Given the description of an element on the screen output the (x, y) to click on. 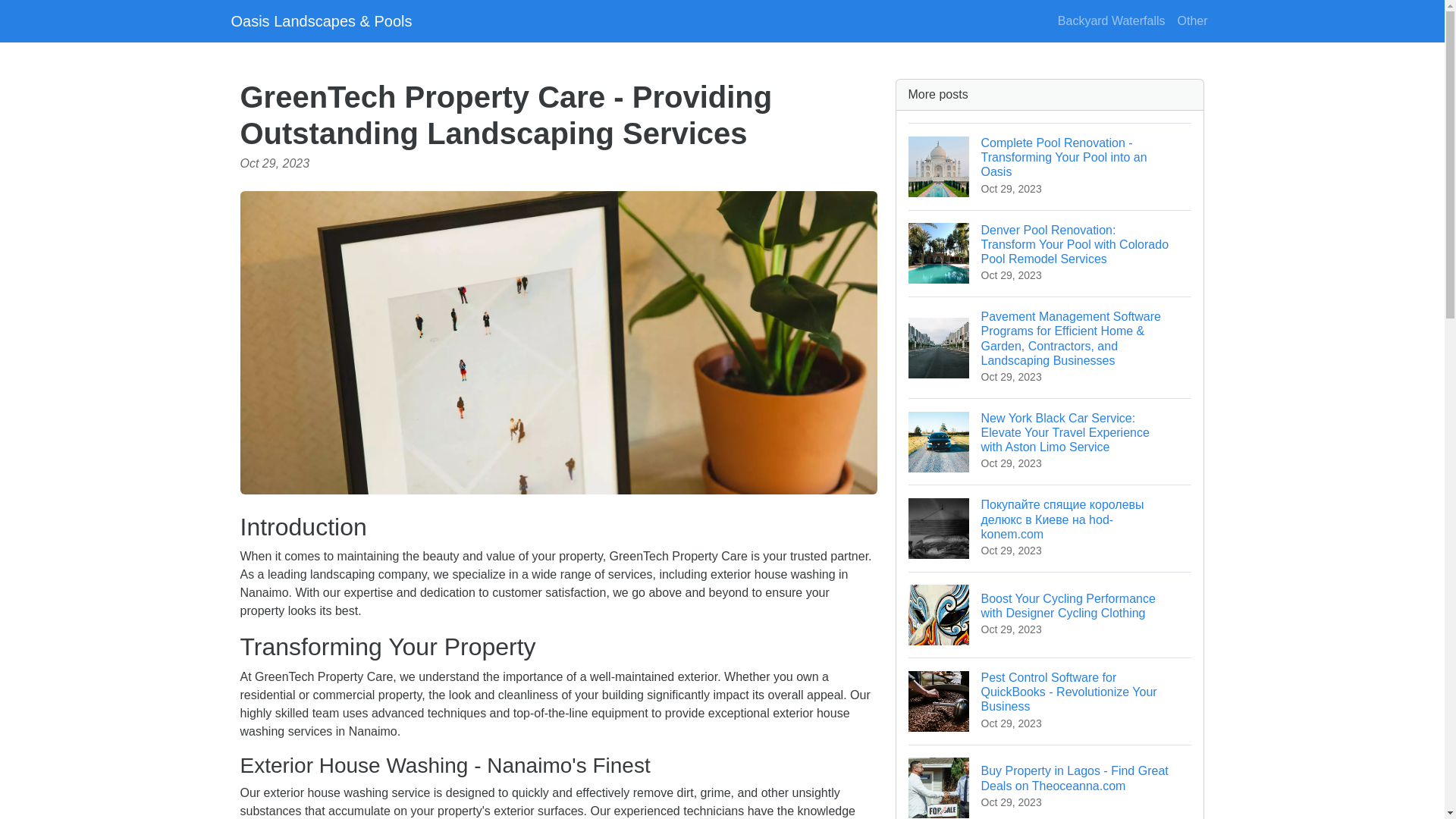
Backyard Waterfalls (1111, 20)
Other (1191, 20)
